Given the description of an element on the screen output the (x, y) to click on. 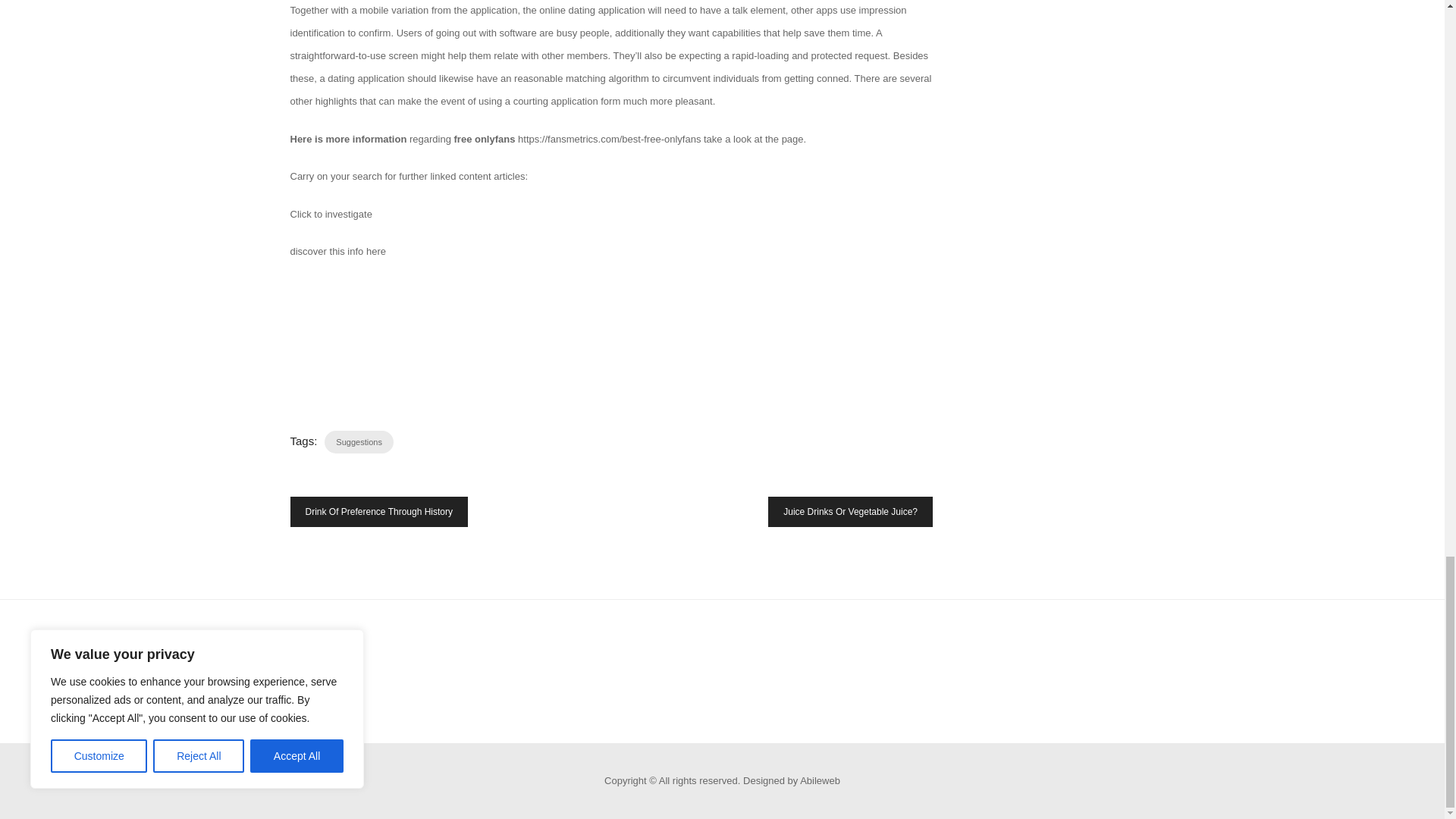
Suggestions (358, 441)
Drink Of Preference Through History (378, 511)
Click to investigate (330, 214)
discover this info here (337, 251)
Juice Drinks Or Vegetable Juice? (850, 511)
